Given the description of an element on the screen output the (x, y) to click on. 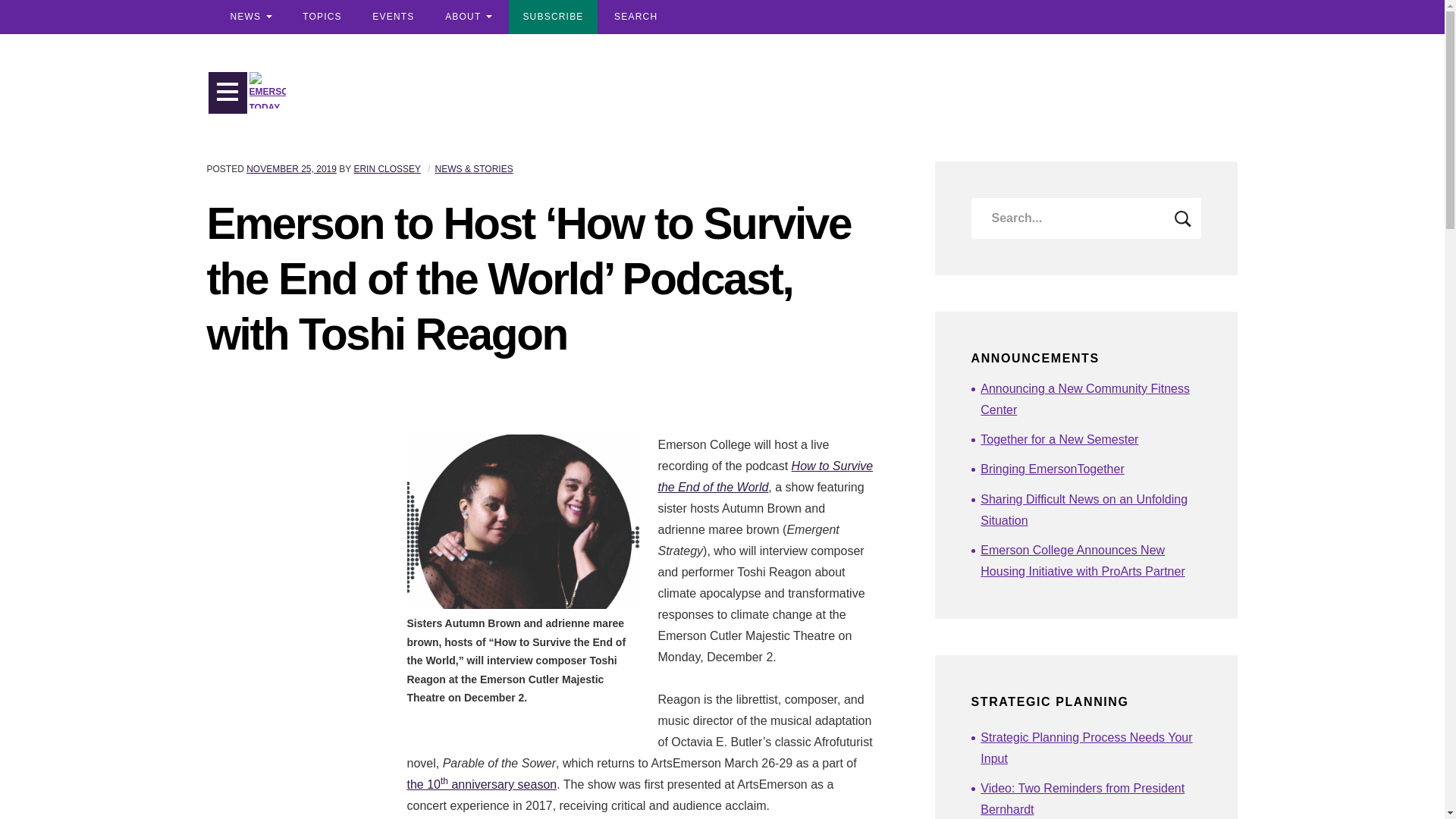
NOVEMBER 25, 2019 (291, 168)
OPEN MENU OVERLAY (227, 92)
How to Survive the End of the World (765, 476)
SUBSCRIBE (552, 17)
ABOUT (467, 17)
Strategic Planning Process Needs Your Input (1090, 748)
Video: Two Reminders from President Bernhardt (1090, 798)
ERIN CLOSSEY (386, 168)
NEWS (250, 17)
Sharing Difficult News on an Unfolding Situation (1090, 509)
